Given the description of an element on the screen output the (x, y) to click on. 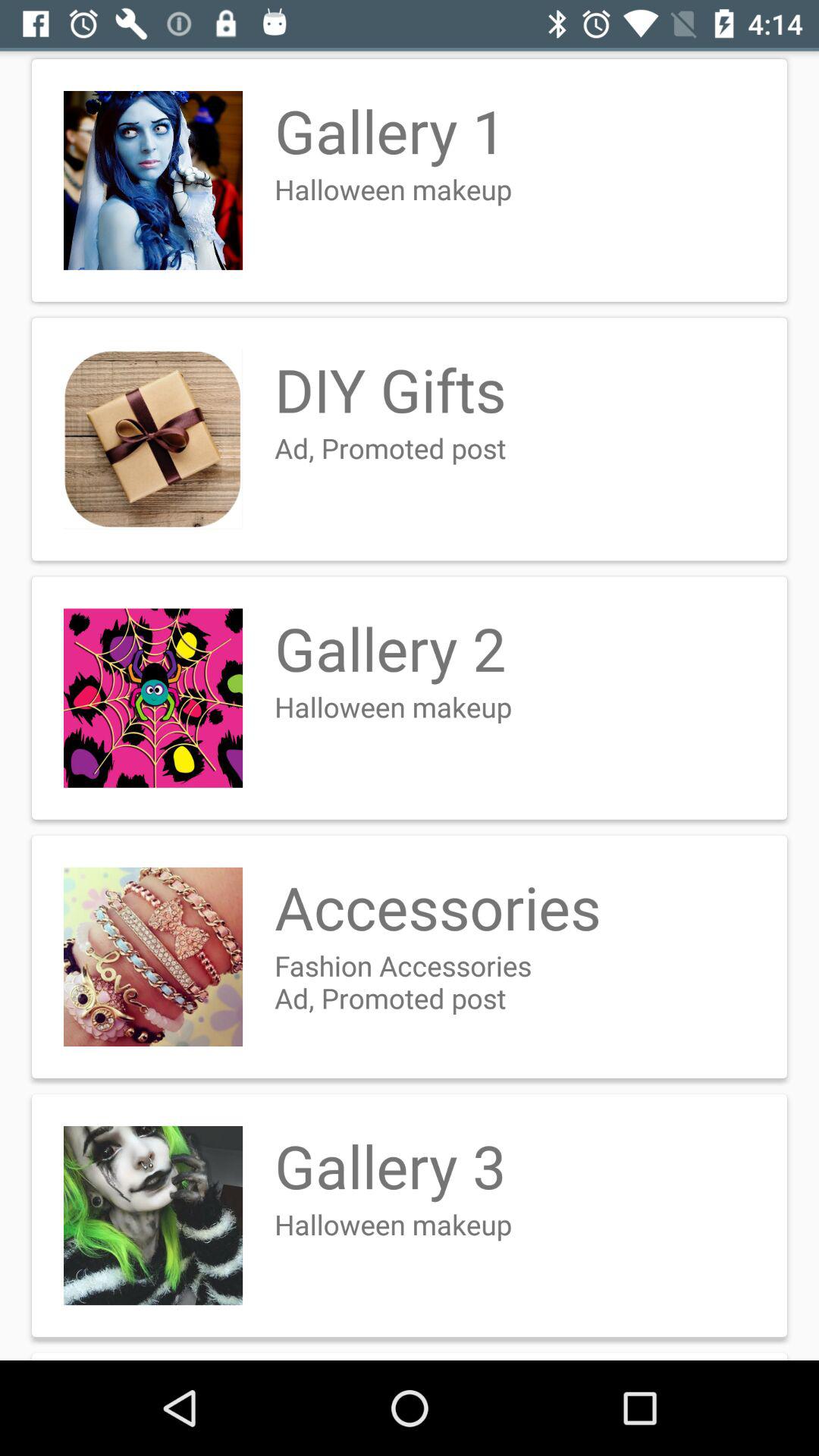
image left to gallery 2 (152, 697)
click on the first image (152, 179)
select the picture before the gallery 3 (152, 1214)
select third frame along with the image from top (409, 697)
